Given the description of an element on the screen output the (x, y) to click on. 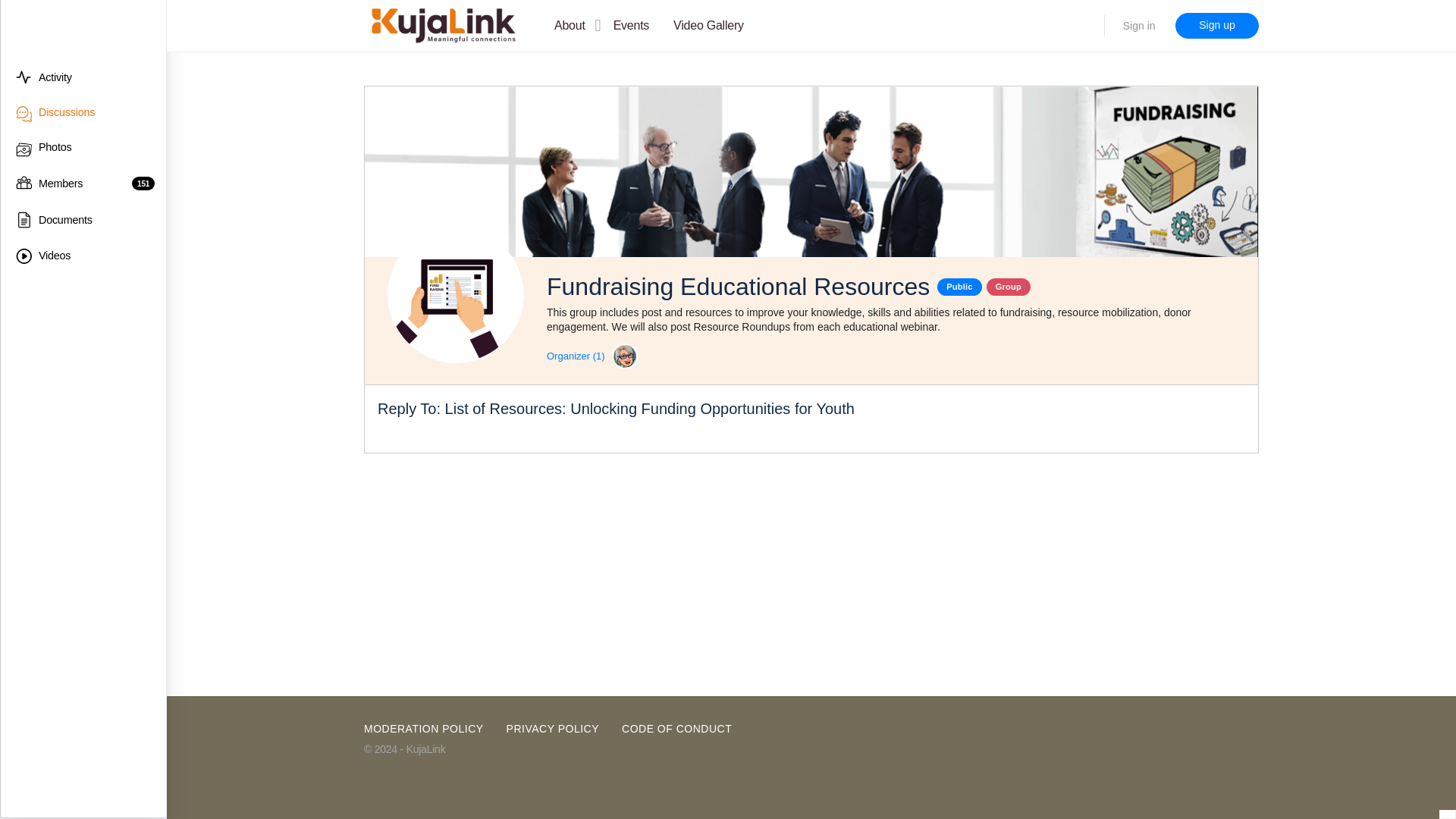
CODE OF CONDUCT (676, 728)
Videos (81, 255)
Sign in (1138, 25)
PRIVACY POLICY (552, 728)
Sign up (1216, 25)
Discussions (81, 111)
Photos (81, 147)
MODERATION POLICY (423, 728)
Documents (81, 220)
Activity (81, 77)
Video Gallery (708, 27)
